Given the description of an element on the screen output the (x, y) to click on. 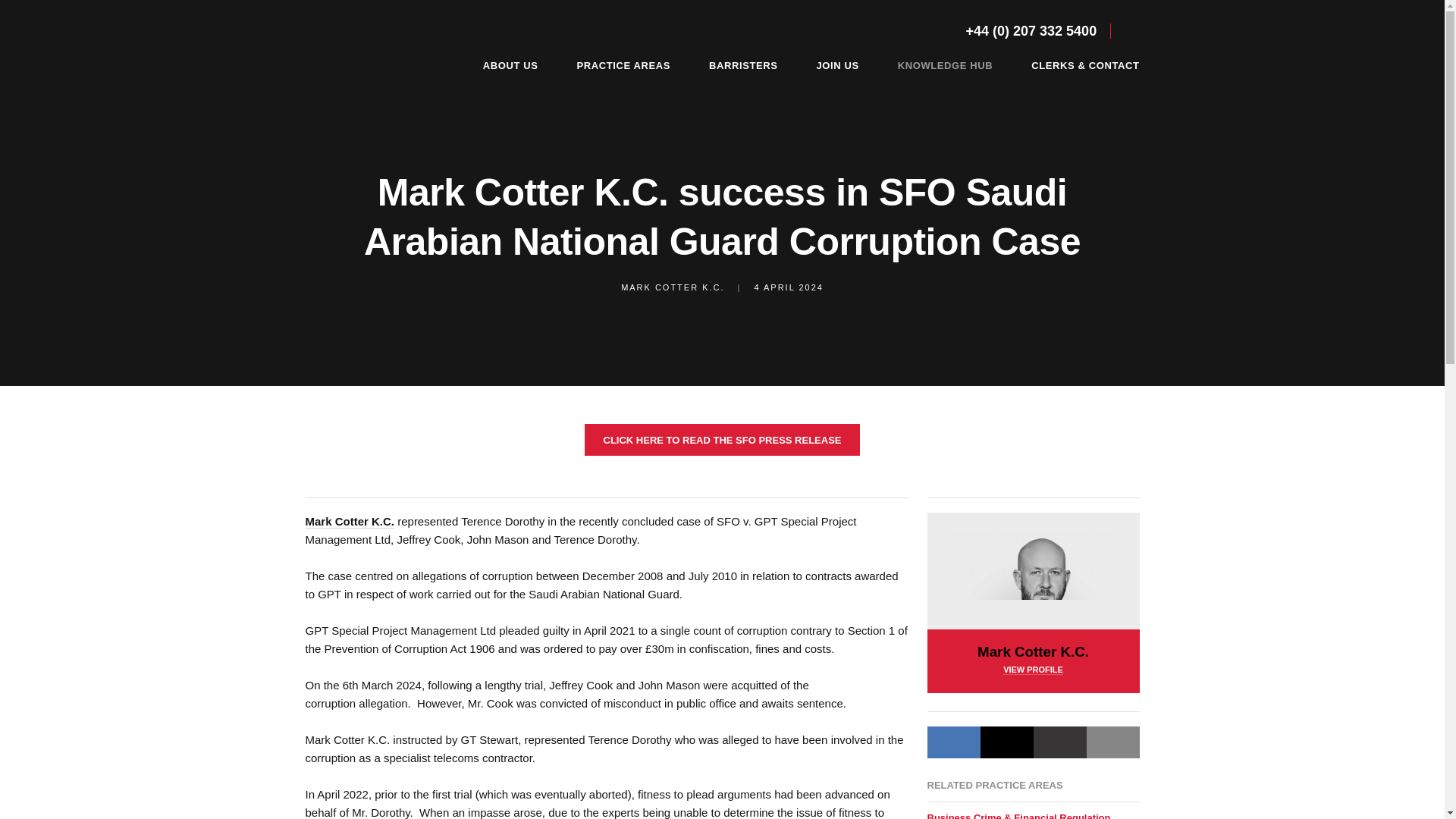
Print (1112, 742)
ABOUT US (515, 65)
Share on X (1005, 742)
BARRISTERS (747, 65)
Email to a Friend (1059, 742)
PRACTICE AREAS (627, 65)
KNOWLEDGE HUB (949, 65)
Share on LinkedIn (952, 742)
JOIN US (840, 65)
